Given the description of an element on the screen output the (x, y) to click on. 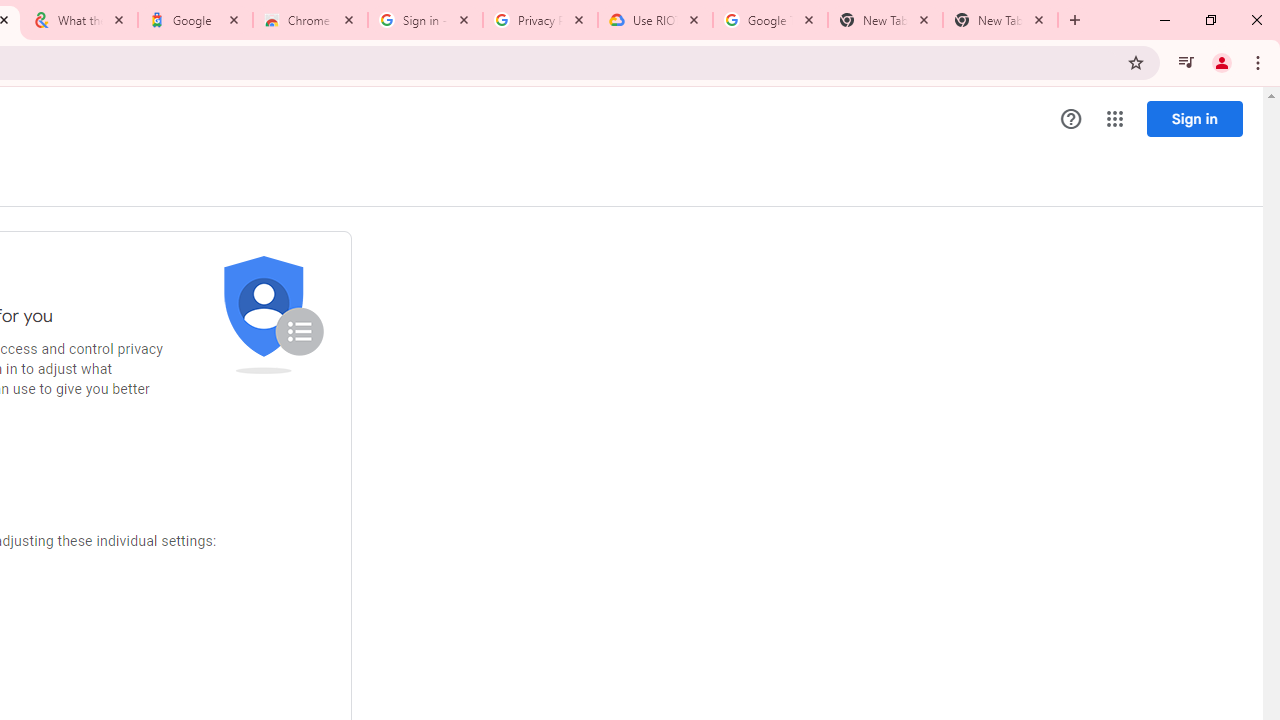
New Tab (1000, 20)
Sign in - Google Accounts (424, 20)
Chrome Web Store - Color themes by Chrome (310, 20)
